Given the description of an element on the screen output the (x, y) to click on. 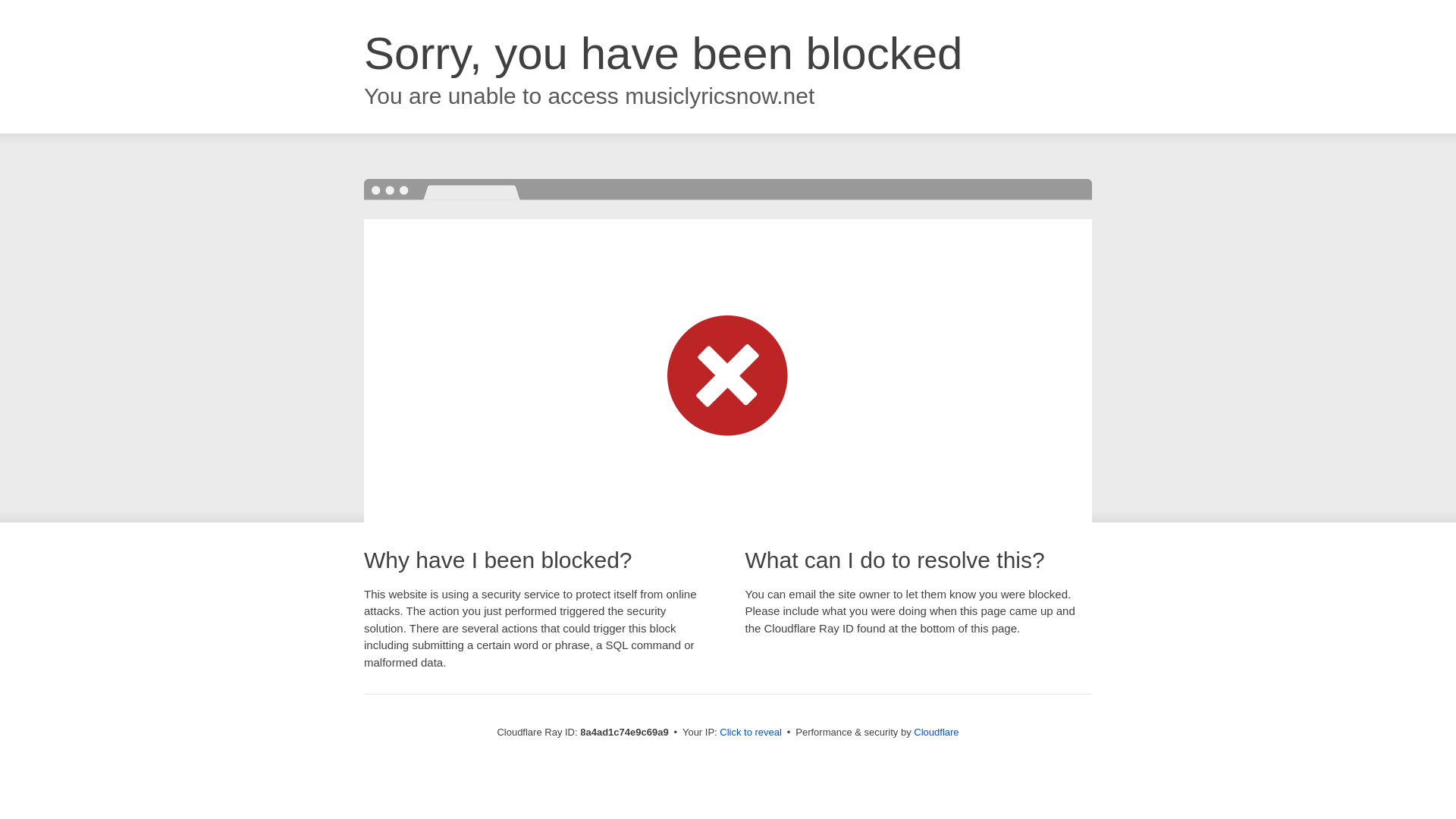
Click to reveal (750, 732)
Cloudflare (936, 731)
